Given the description of an element on the screen output the (x, y) to click on. 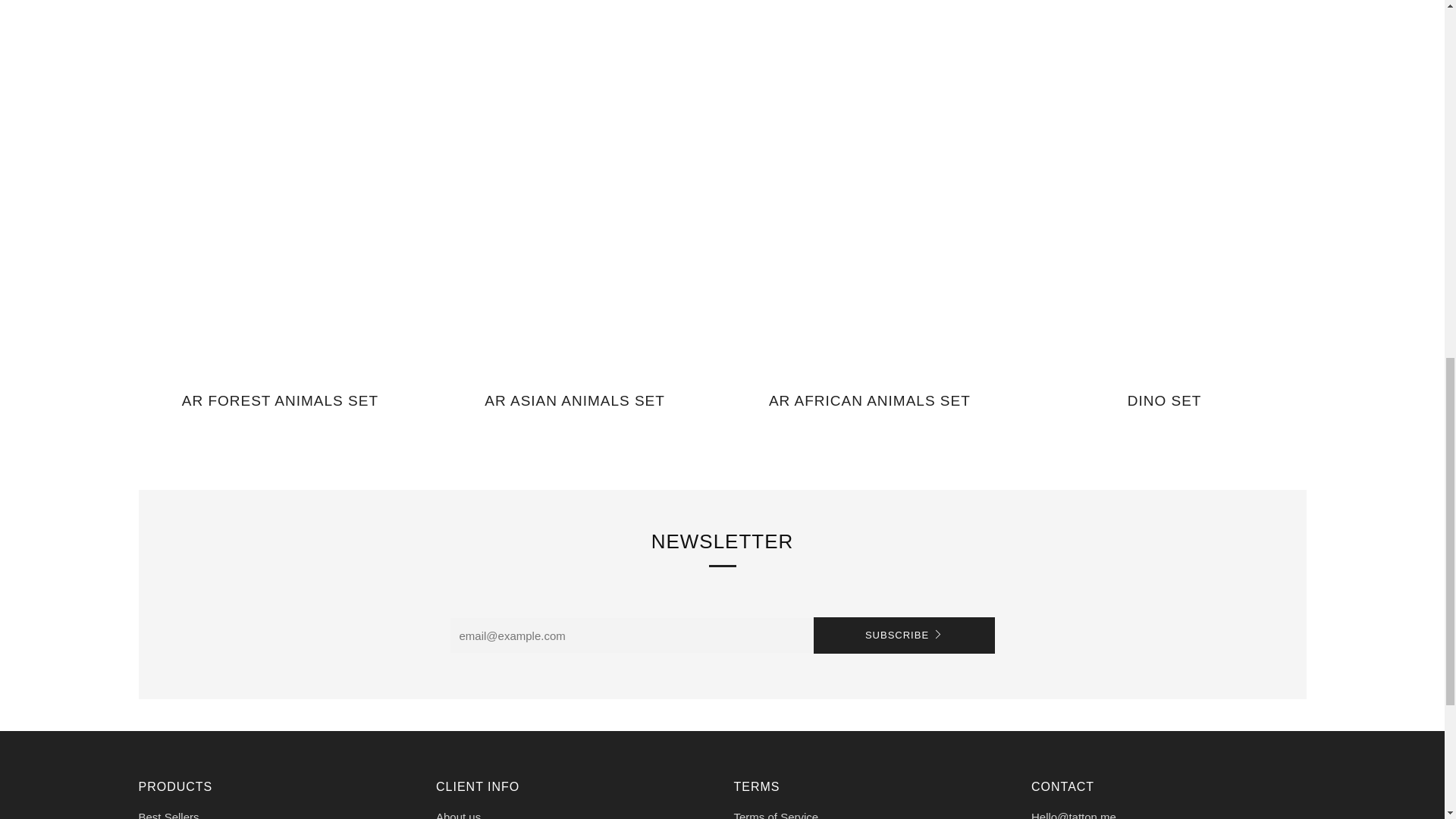
AR Asian animals set (574, 409)
Dino set (1164, 409)
AR Forest animals set (280, 409)
AR African animals set (869, 409)
